Given the description of an element on the screen output the (x, y) to click on. 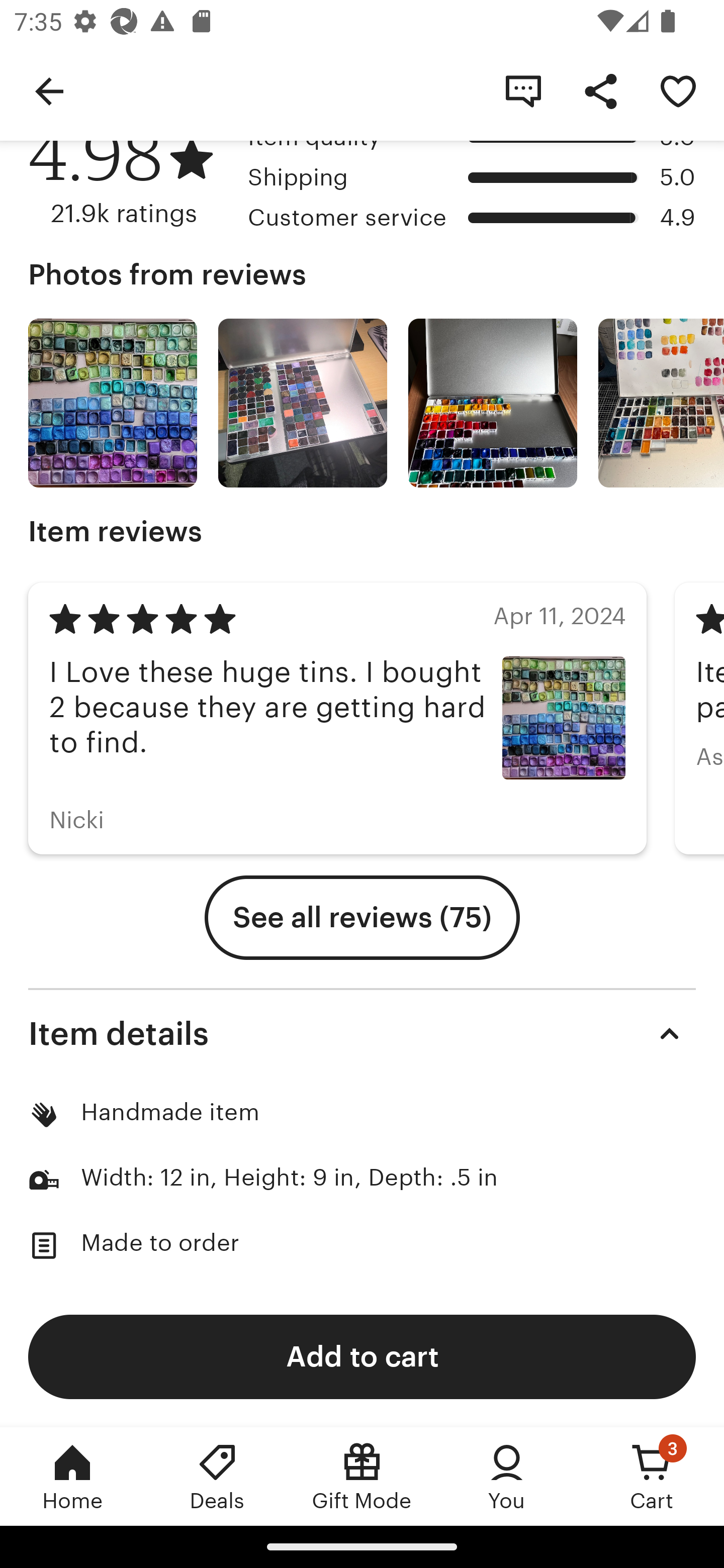
Navigate up (49, 90)
Contact shop (523, 90)
Share (600, 90)
4.98 21.9k ratings (130, 175)
Photo from review (112, 402)
Photo from review (302, 402)
Photo from review (492, 402)
Photo from review (661, 402)
Rating: 5.0 out of 5,  reviews Apr 11, 2024 Nicki (337, 717)
See all reviews (75) (361, 916)
Item details (362, 1032)
Add to cart (361, 1355)
Deals (216, 1475)
Gift Mode (361, 1475)
You (506, 1475)
Cart, 3 new notifications Cart (651, 1475)
